Given the description of an element on the screen output the (x, y) to click on. 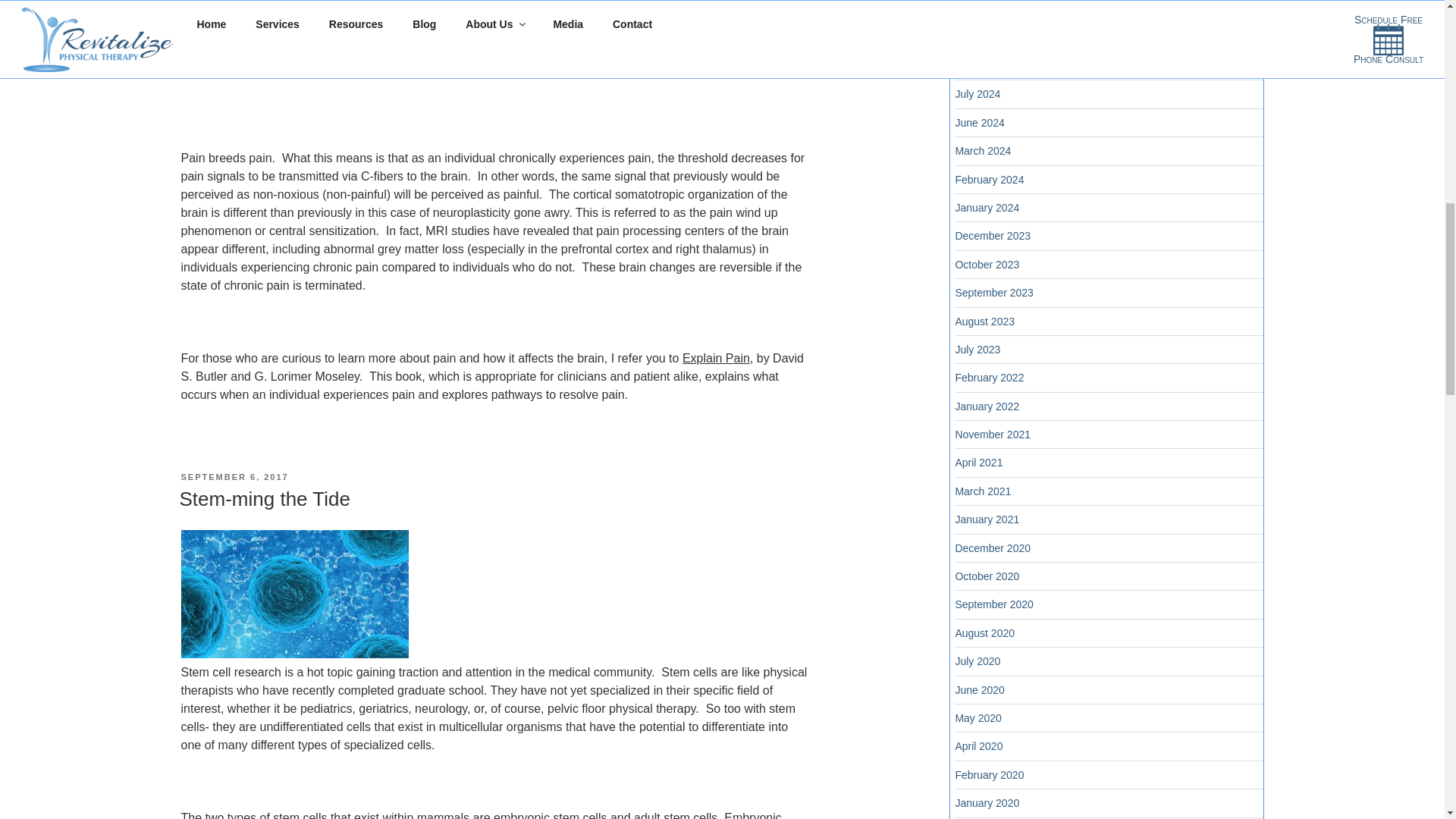
June 2024 (979, 122)
SEPTEMBER 6, 2017 (234, 476)
July 2024 (977, 93)
March 2024 (982, 150)
Uncategorized (989, 1)
Stem-ming the Tide (264, 498)
